Given the description of an element on the screen output the (x, y) to click on. 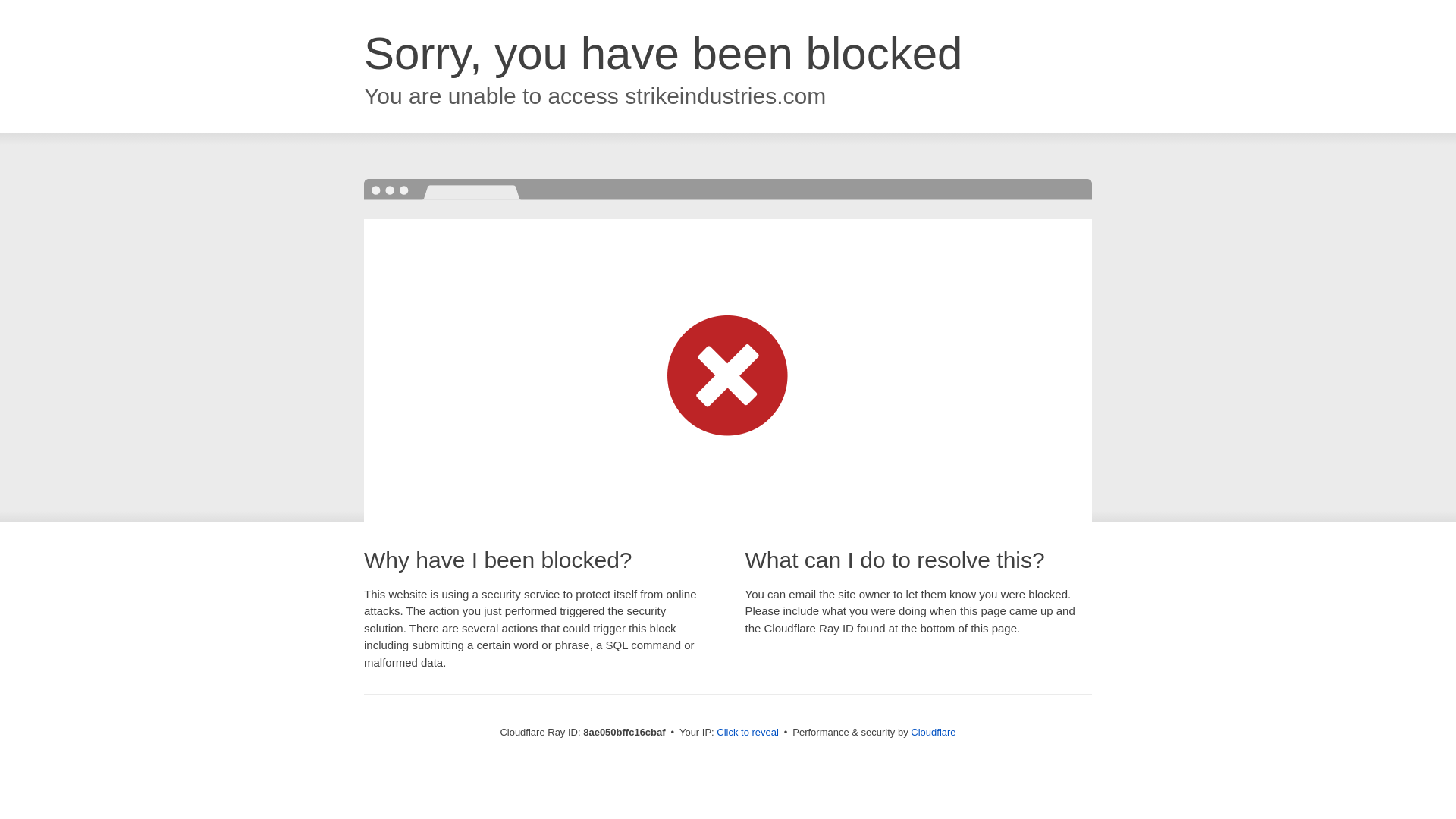
Cloudflare (933, 731)
Click to reveal (747, 732)
